Given the description of an element on the screen output the (x, y) to click on. 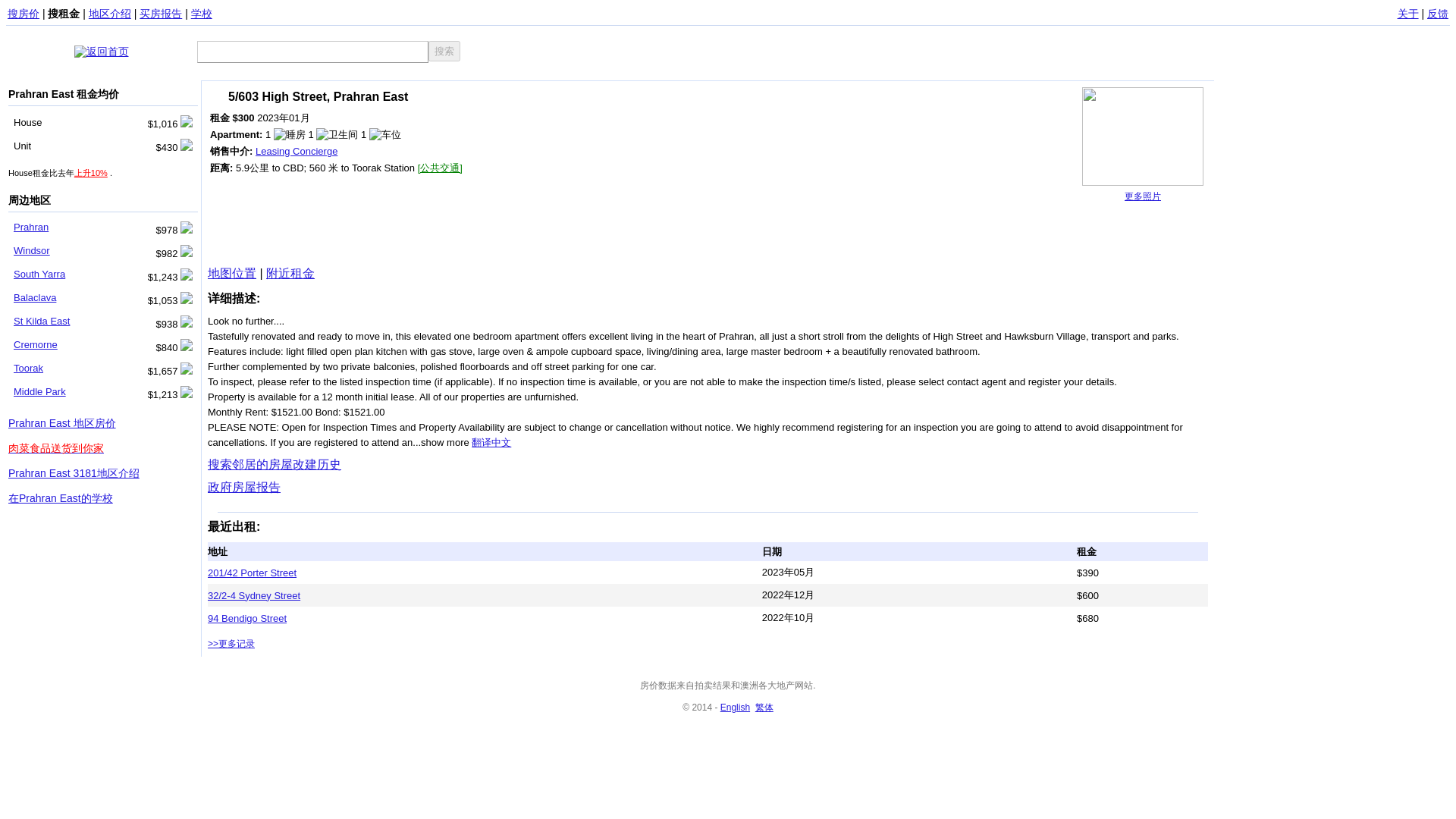
Prahran (30, 226)
Leasing Concierge (296, 151)
Windsor (31, 250)
View median house rent history data (90, 172)
Middle Park (39, 391)
Toorak (28, 367)
St Kilda East (41, 320)
South Yarra (39, 274)
Cremorne (35, 344)
Balaclava (34, 297)
